Given the description of an element on the screen output the (x, y) to click on. 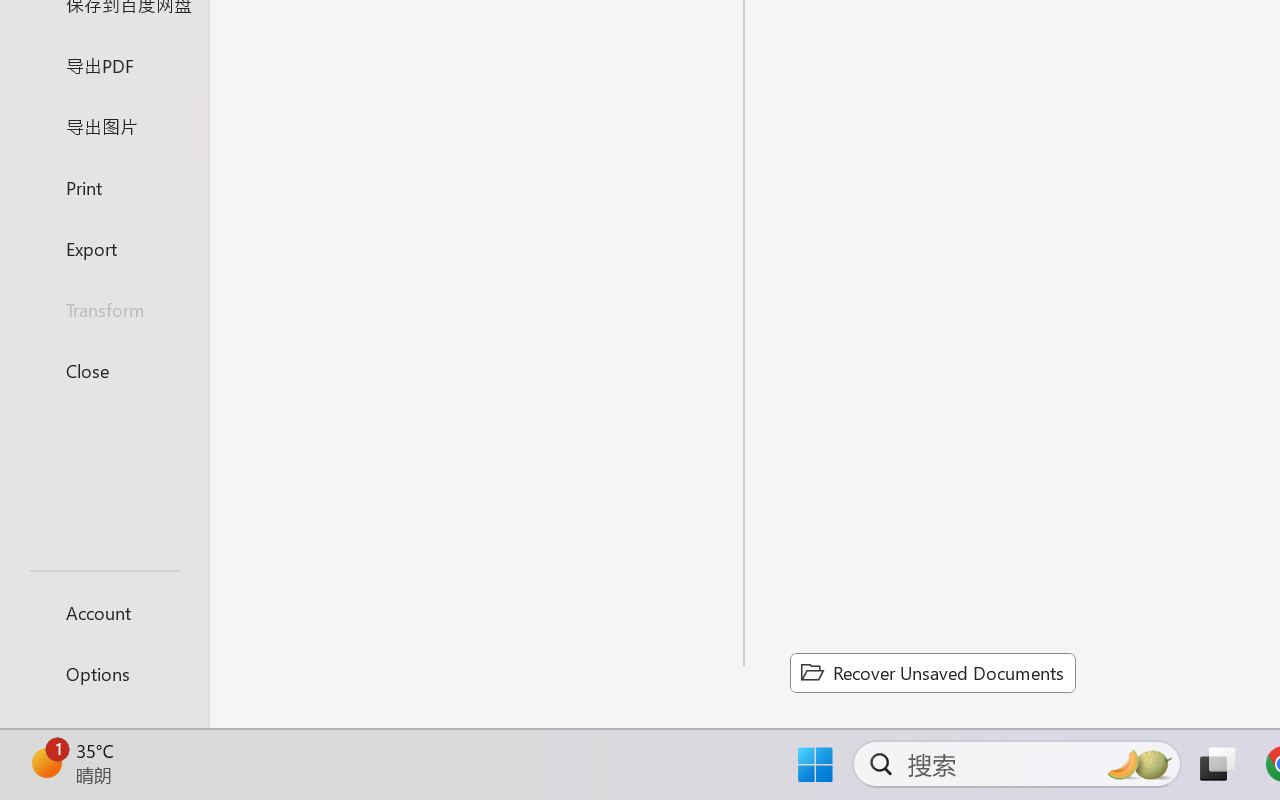
Export (104, 248)
Transform (104, 309)
Print (104, 186)
Options (104, 673)
Recover Unsaved Documents (932, 672)
Account (104, 612)
